Given the description of an element on the screen output the (x, y) to click on. 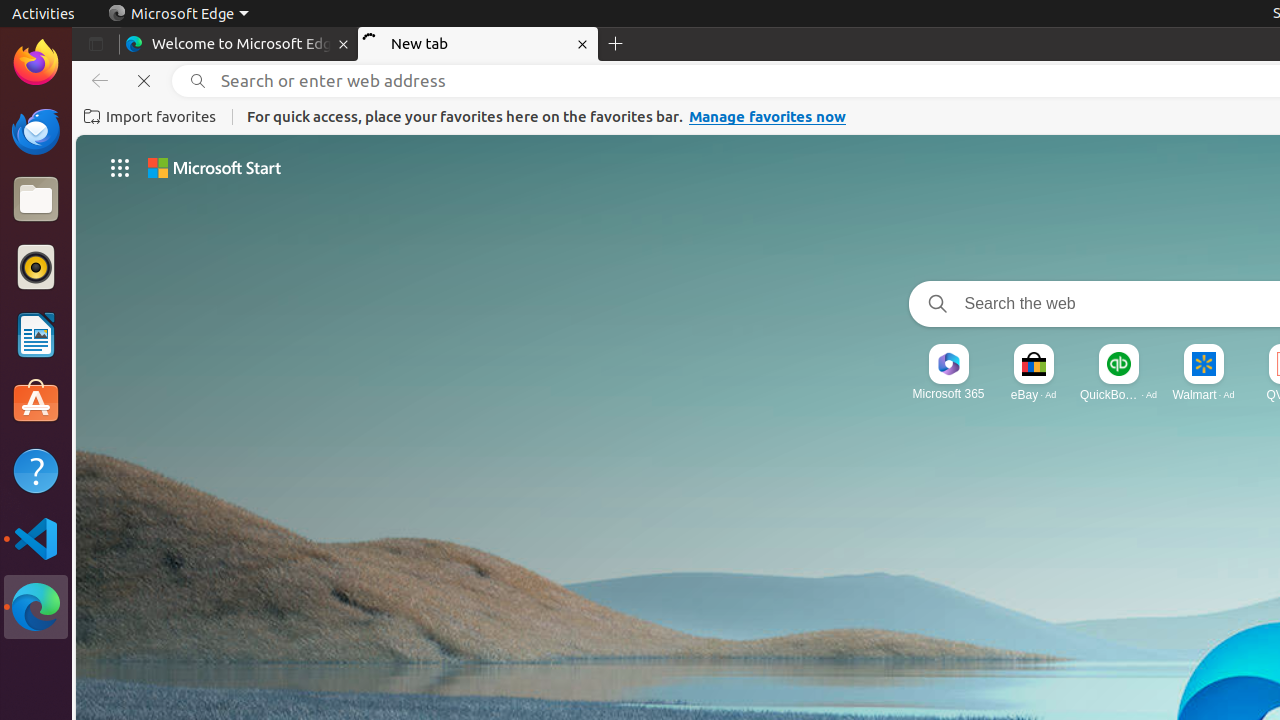
Microsoft Edge Element type: menu (178, 13)
Firefox Web Browser Element type: push-button (36, 63)
Close tab Element type: push-button (343, 44)
Microsoft start Element type: link (214, 168)
New Tab Element type: push-button (616, 44)
